Given the description of an element on the screen output the (x, y) to click on. 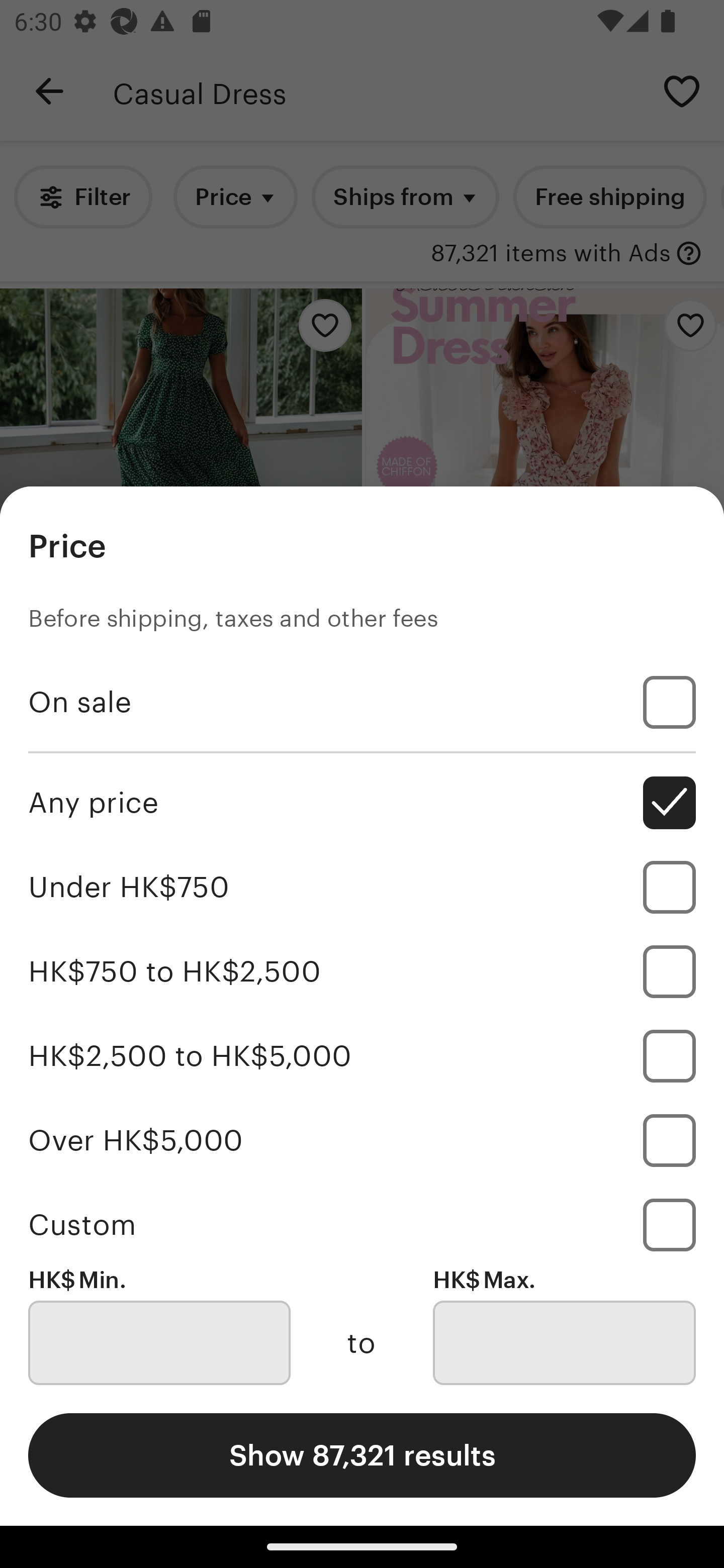
On sale (362, 702)
Any price (362, 802)
Under HK$750 (362, 887)
HK$750 to HK$2,500 (362, 970)
HK$2,500 to HK$5,000 (362, 1054)
Over HK$5,000 (362, 1139)
Custom (362, 1224)
Show 87,321 results (361, 1454)
